Given the description of an element on the screen output the (x, y) to click on. 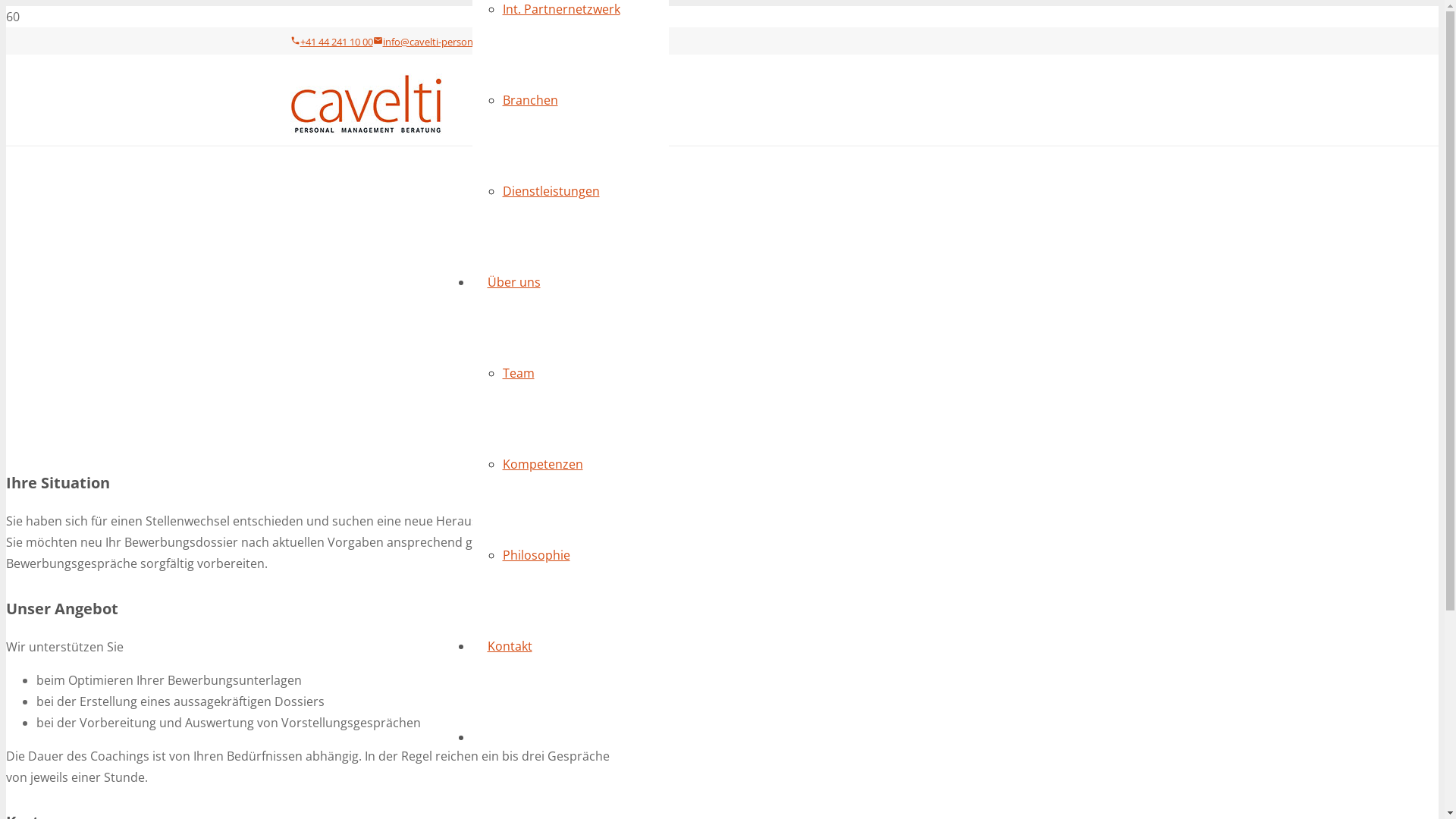
phone+41 44 241 10 00 Element type: text (330, 41)
Philosophie Element type: text (535, 554)
Dienstleistungen Element type: text (550, 190)
Int. Partnernetzwerk Element type: text (560, 8)
Kompetenzen Element type: text (542, 463)
Team Element type: text (517, 372)
Kontakt Element type: text (508, 645)
mailinfo@cavelti-personal.ch Element type: text (433, 41)
Branchen Element type: text (529, 99)
